Given the description of an element on the screen output the (x, y) to click on. 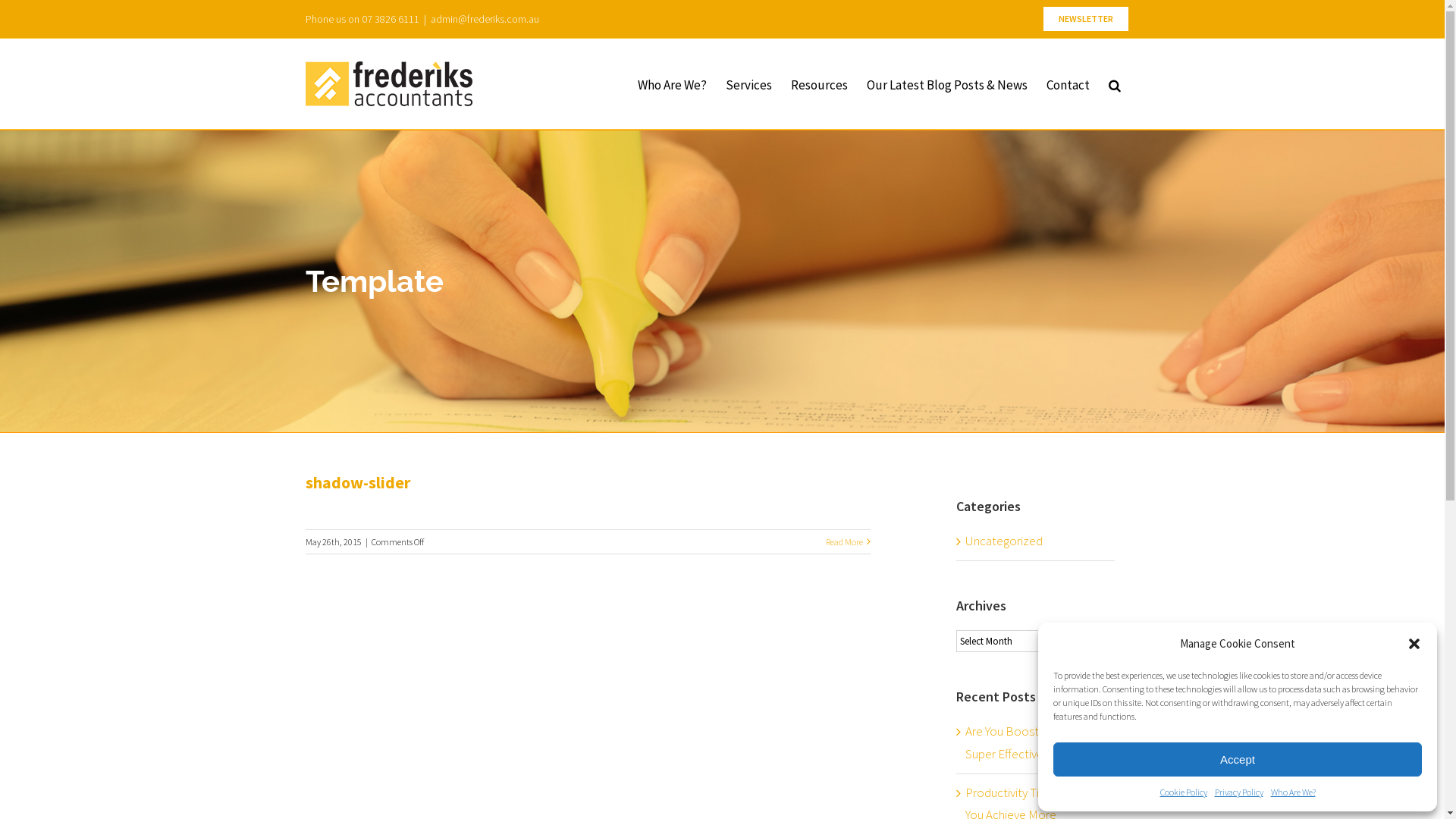
Privacy Policy Element type: text (1238, 792)
Accept Element type: text (1237, 759)
Our Latest Blog Posts & News Element type: text (946, 83)
Who Are We? Element type: text (1292, 792)
Services Element type: text (747, 83)
Search Element type: hover (1114, 83)
shadow-slider Element type: text (356, 481)
Uncategorized Element type: text (1035, 541)
Resources Element type: text (818, 83)
Cookie Policy Element type: text (1183, 792)
NEWSLETTER Element type: text (1085, 18)
Are You Boosting Your Super Effectively? Element type: text (1020, 742)
Who Are We? Element type: text (671, 83)
admin@frederiks.com.au Element type: text (484, 18)
Read More Element type: text (843, 541)
Contact Element type: text (1067, 83)
